Given the description of an element on the screen output the (x, y) to click on. 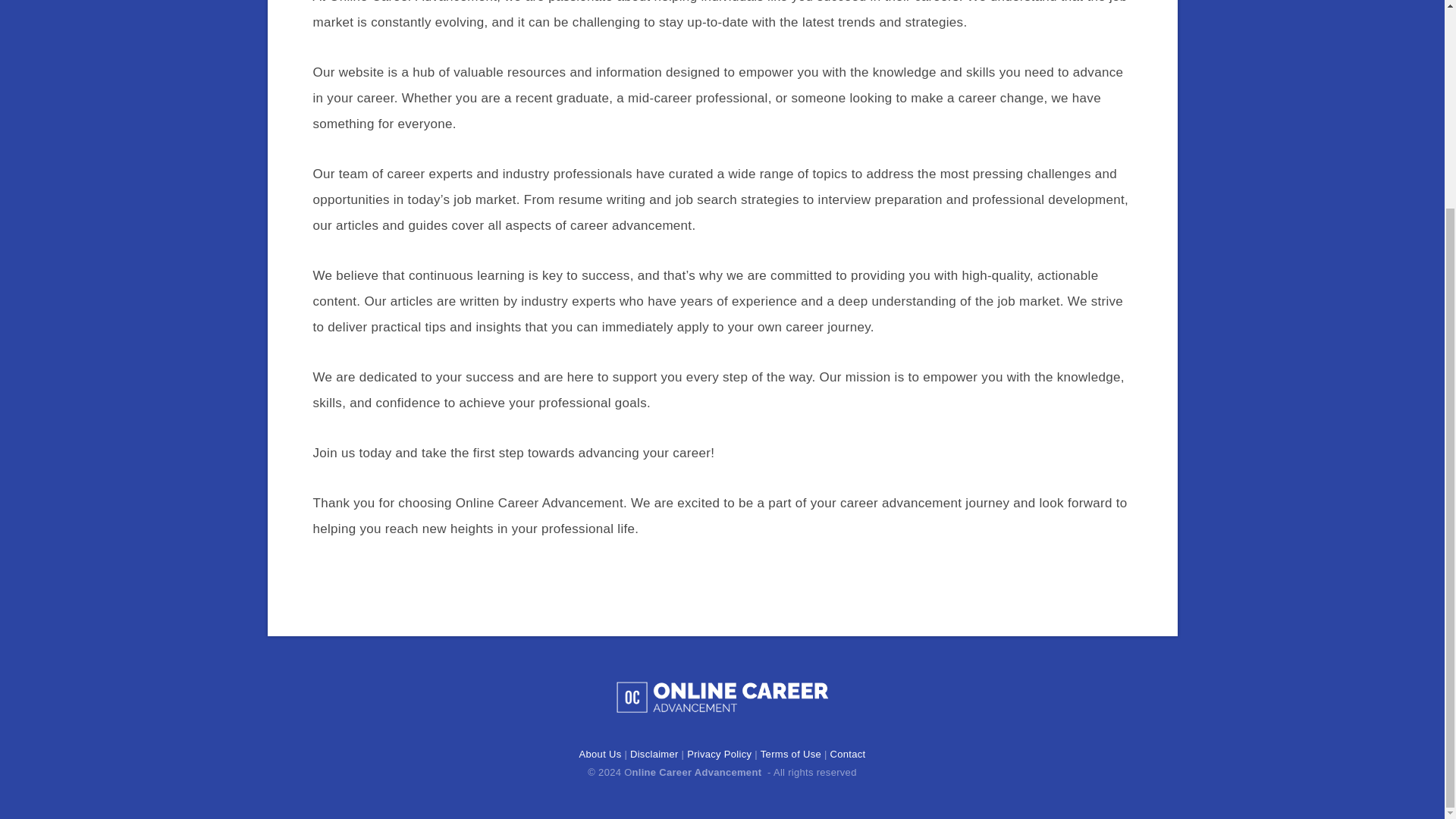
Contact (846, 754)
Disclaimer (654, 754)
Terms of Use (790, 754)
About Us (600, 754)
Privacy Policy (719, 754)
